Given the description of an element on the screen output the (x, y) to click on. 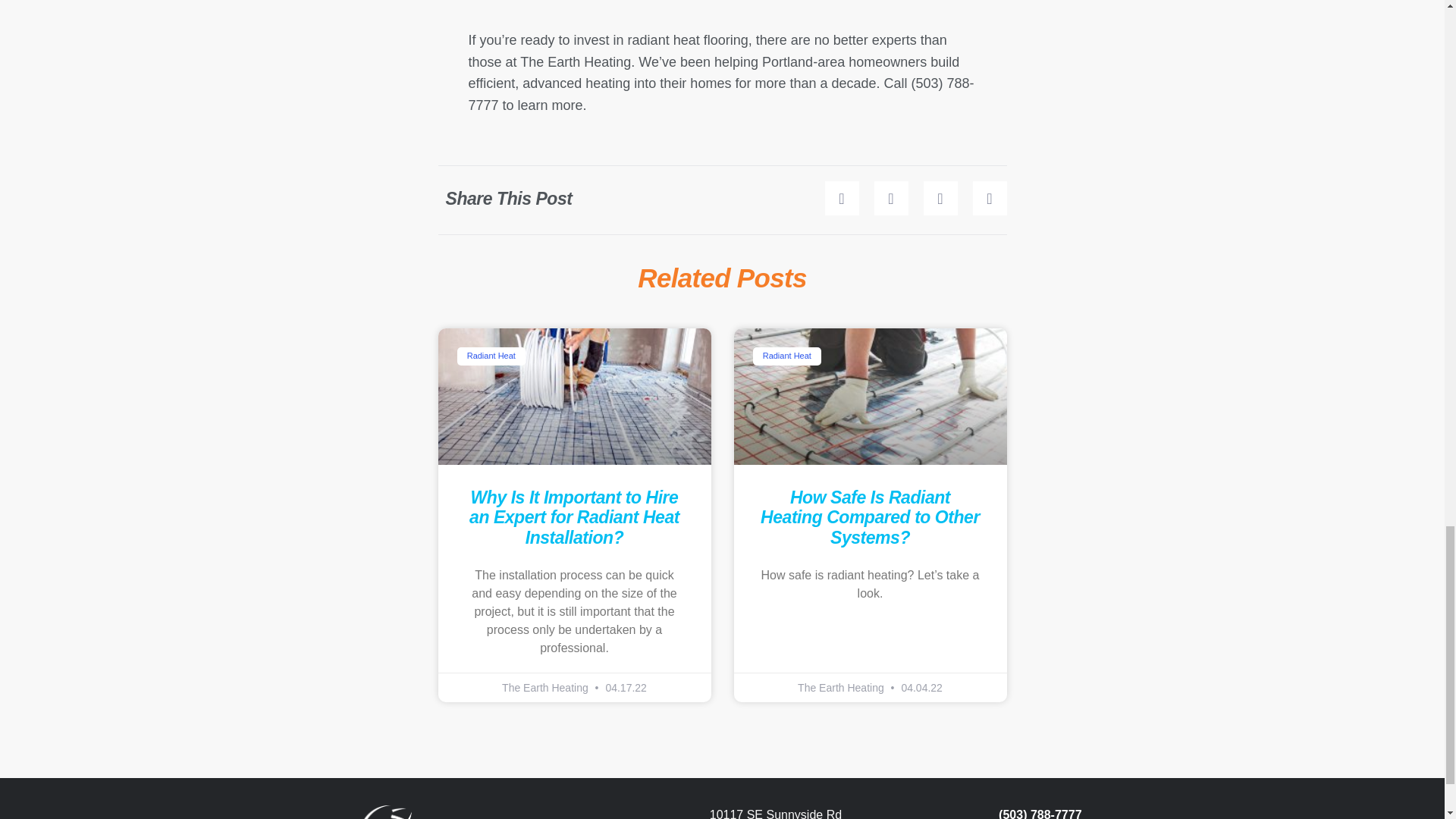
How Safe Is Radiant Heating Compared to Other Systems? (869, 517)
